Given the description of an element on the screen output the (x, y) to click on. 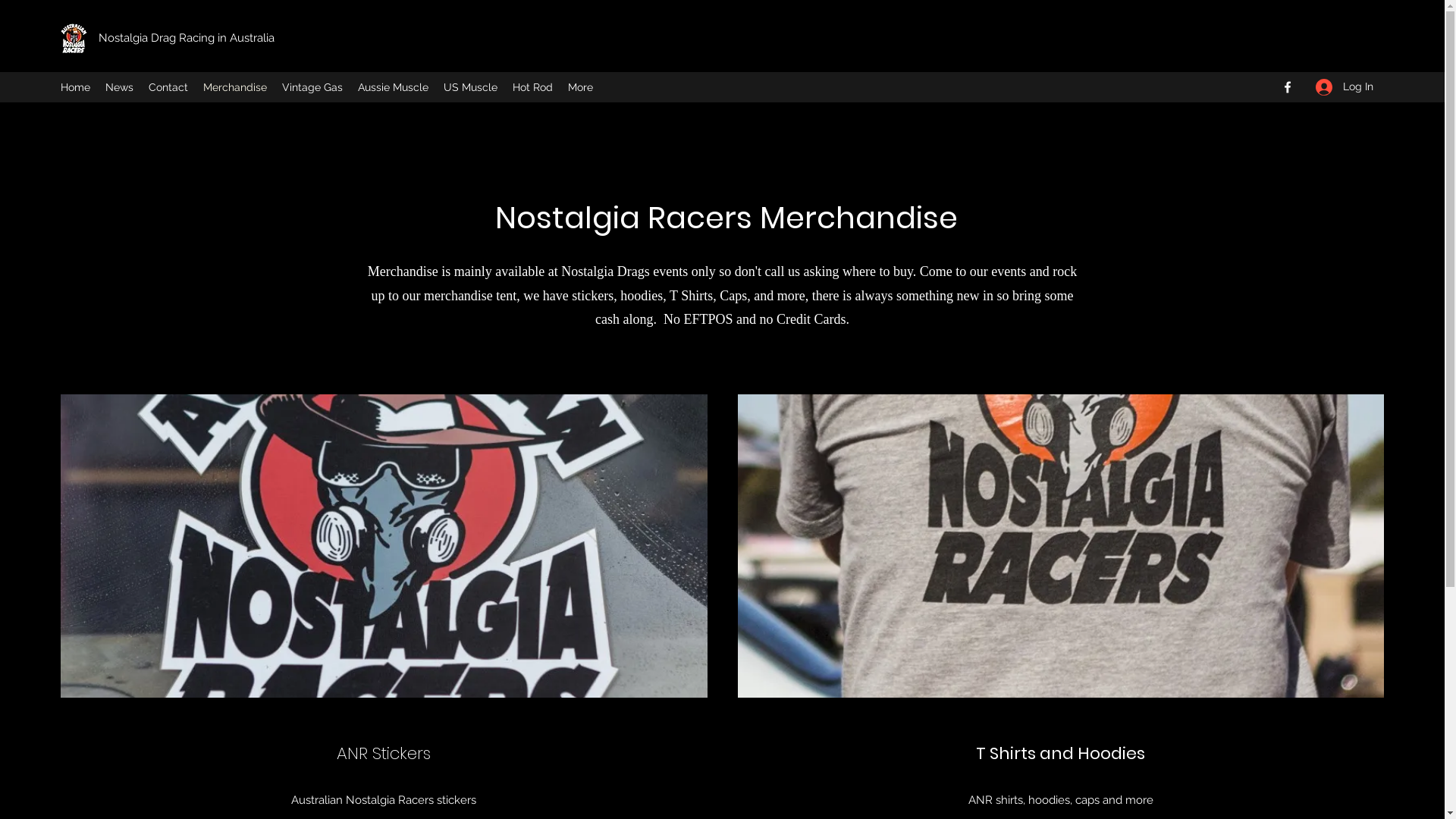
Log In Element type: text (1344, 86)
Hot Rod Element type: text (532, 86)
Merchandise Element type: text (234, 86)
News Element type: text (119, 86)
Home Element type: text (75, 86)
Contact Element type: text (168, 86)
Vintage Gas Element type: text (312, 86)
US Muscle Element type: text (470, 86)
Aussie Muscle Element type: text (393, 86)
